Given the description of an element on the screen output the (x, y) to click on. 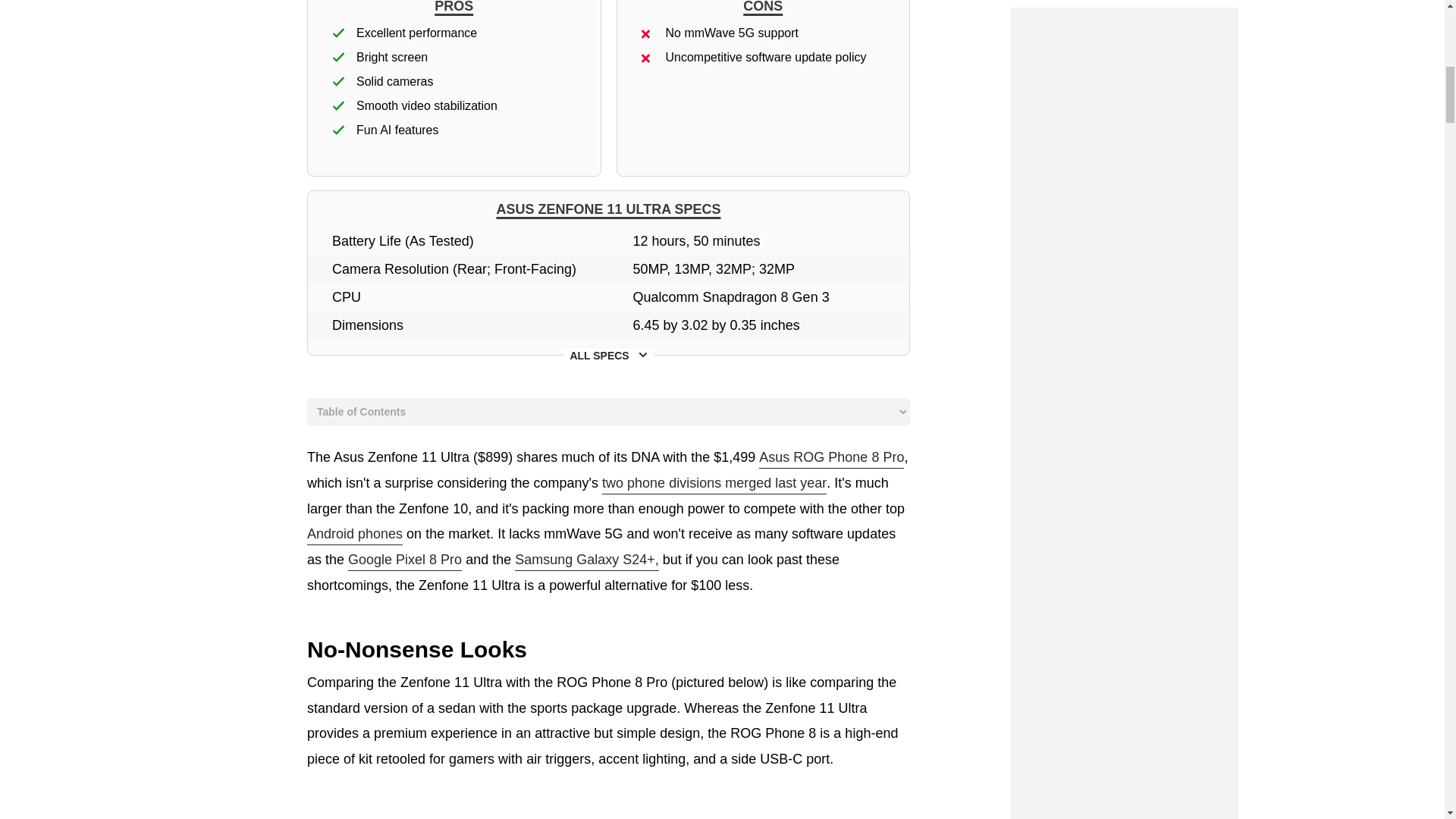
Asus ROG Phone 8 Pro (831, 458)
ALL SPECS (607, 355)
